Given the description of an element on the screen output the (x, y) to click on. 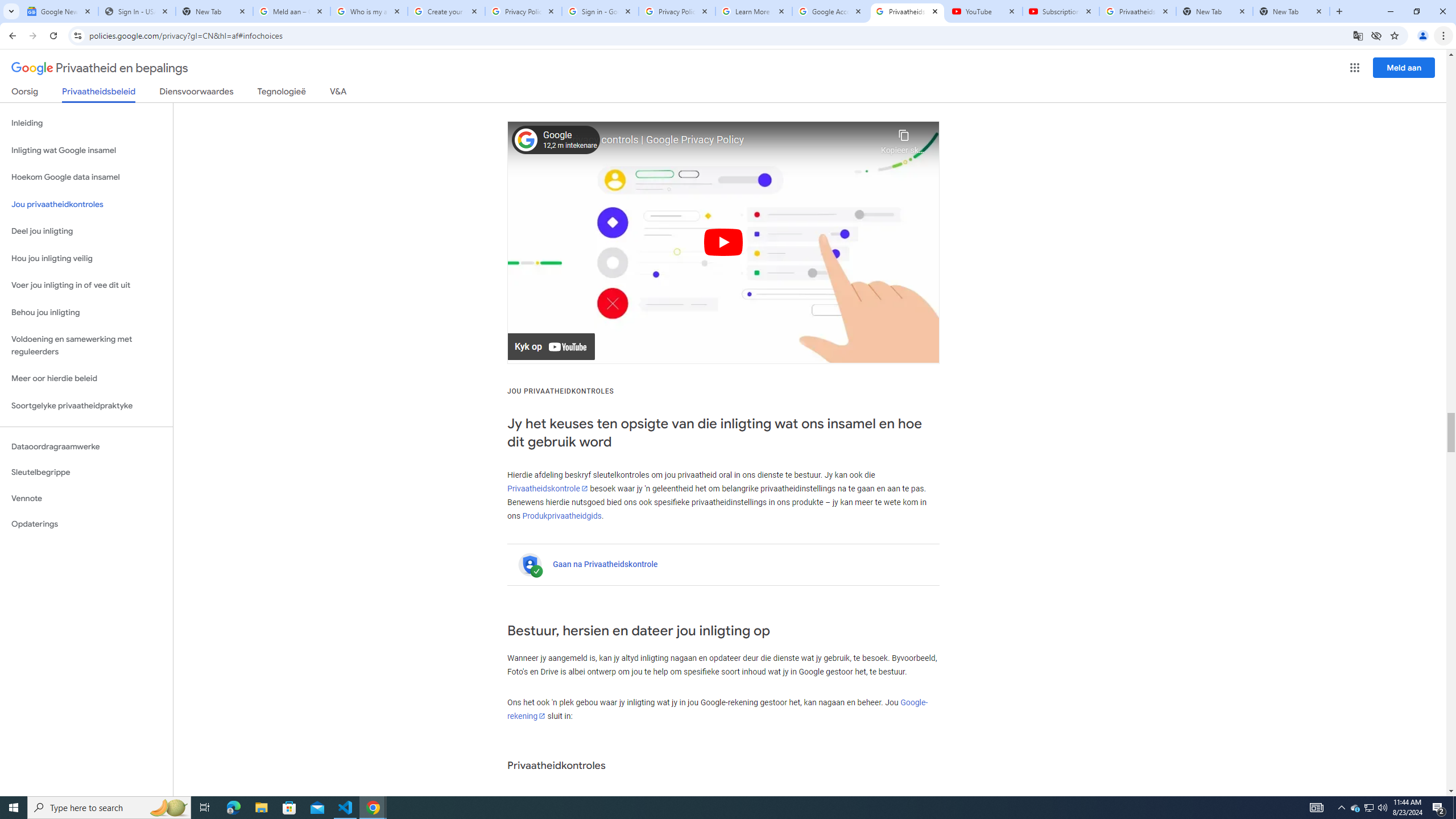
Translate this page (1358, 35)
Dataoordragraamwerke (86, 446)
Create your Google Account (446, 11)
Sign In - USA TODAY (136, 11)
Hou jou inligting veilig (86, 258)
Voer jou inligting in of vee dit uit (86, 284)
Who is my administrator? - Google Account Help (368, 11)
YouTube (983, 11)
Google-programme (1355, 67)
Fotobeeld van Google (526, 139)
Oorsig (25, 93)
